Given the description of an element on the screen output the (x, y) to click on. 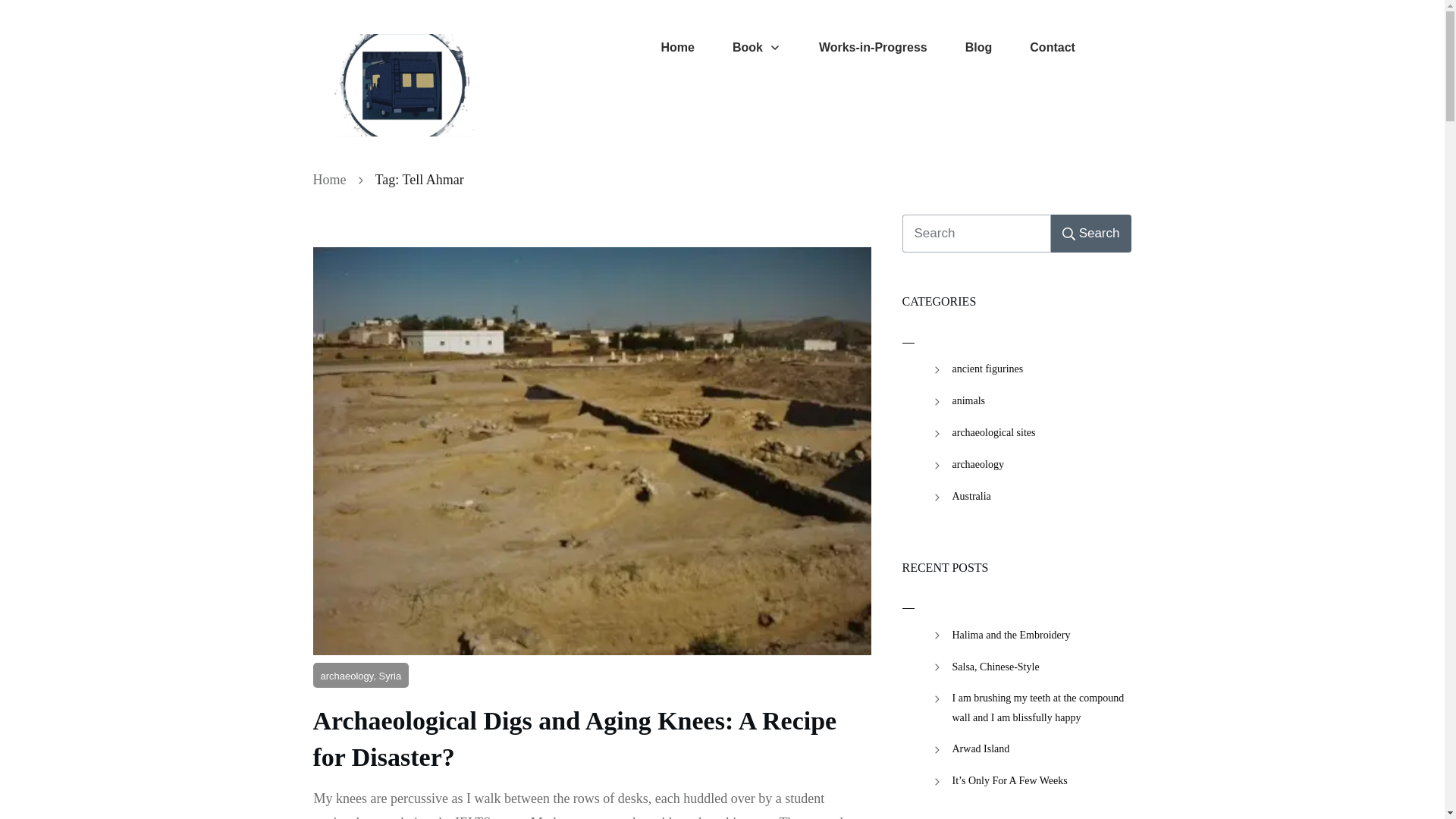
Contact (1052, 47)
Archaeological Digs and Aging Knees: A Recipe for Disaster? (574, 738)
animals (968, 400)
Australia (971, 496)
Works-in-Progress (872, 47)
Home (677, 47)
Salsa, Chinese-Style (995, 666)
archaeological sites (993, 432)
Search (1091, 233)
Archaeological Digs and Aging Knees: A Recipe for Disaster? (574, 738)
Home (329, 179)
Blog (978, 47)
archaeology (978, 464)
ancient figurines (987, 368)
Book (756, 47)
